Given the description of an element on the screen output the (x, y) to click on. 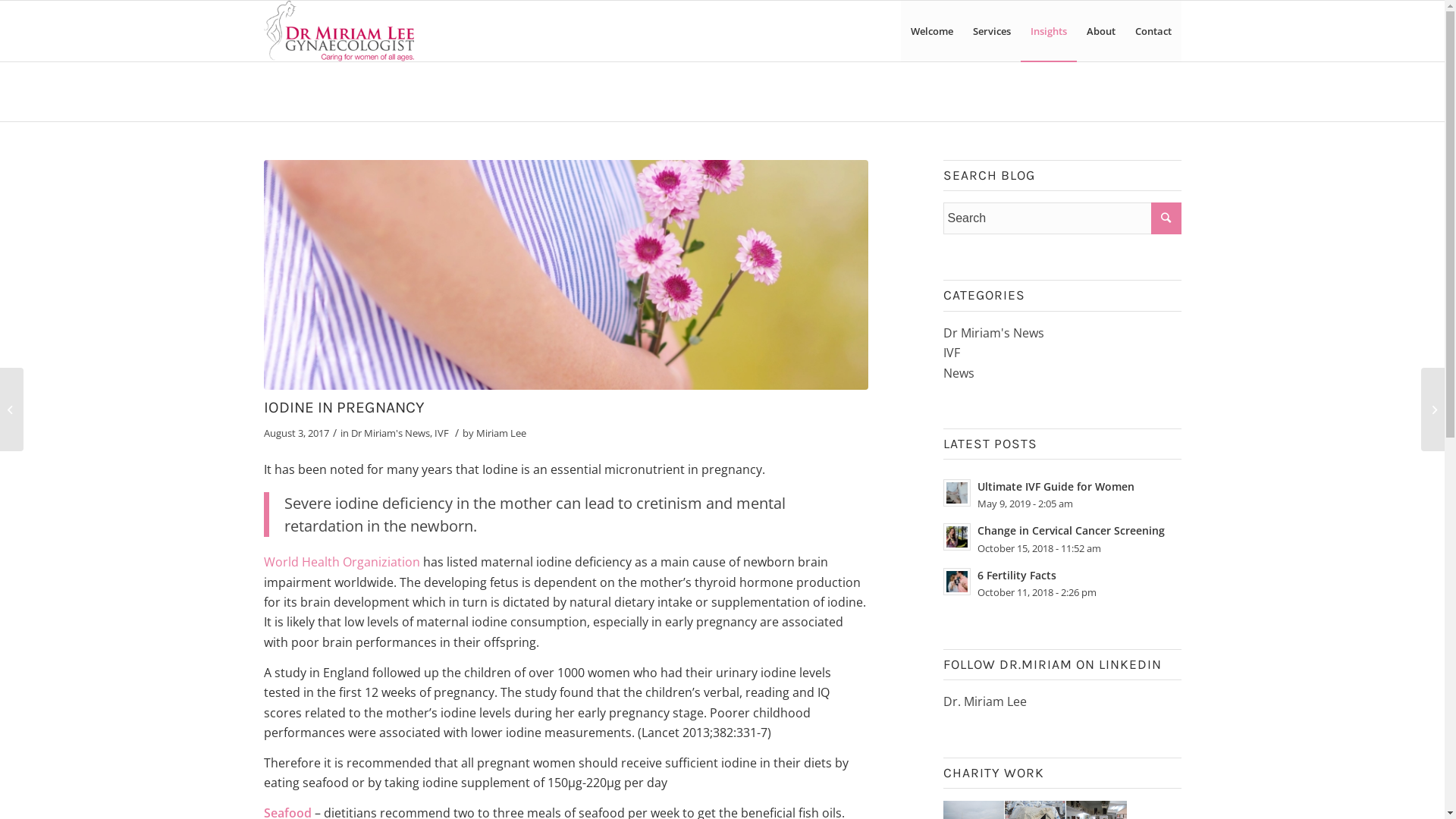
Welcome Element type: text (931, 30)
IODINE IN PREGNANCY Element type: text (343, 407)
Services Element type: text (991, 30)
Dr Miriam's News Element type: text (993, 332)
IVF Element type: text (951, 352)
World Health Organiziation Element type: text (341, 561)
IVF Element type: text (440, 432)
Insights Element type: text (1048, 30)
Miriam Lee Element type: text (501, 432)
Ultimate IVF Guide for Women
May 9, 2019 - 2:05 am Element type: text (1062, 494)
Dr Miriam's News Element type: text (389, 432)
News Element type: text (958, 372)
Contact Element type: text (1153, 30)
dr-miriam-lee-ivf-pregnancy Element type: hover (565, 274)
Dr. Miriam Lee Element type: text (984, 701)
6 Fertility Facts
October 11, 2018 - 2:26 pm Element type: text (1062, 582)
About Element type: text (1100, 30)
